Given the description of an element on the screen output the (x, y) to click on. 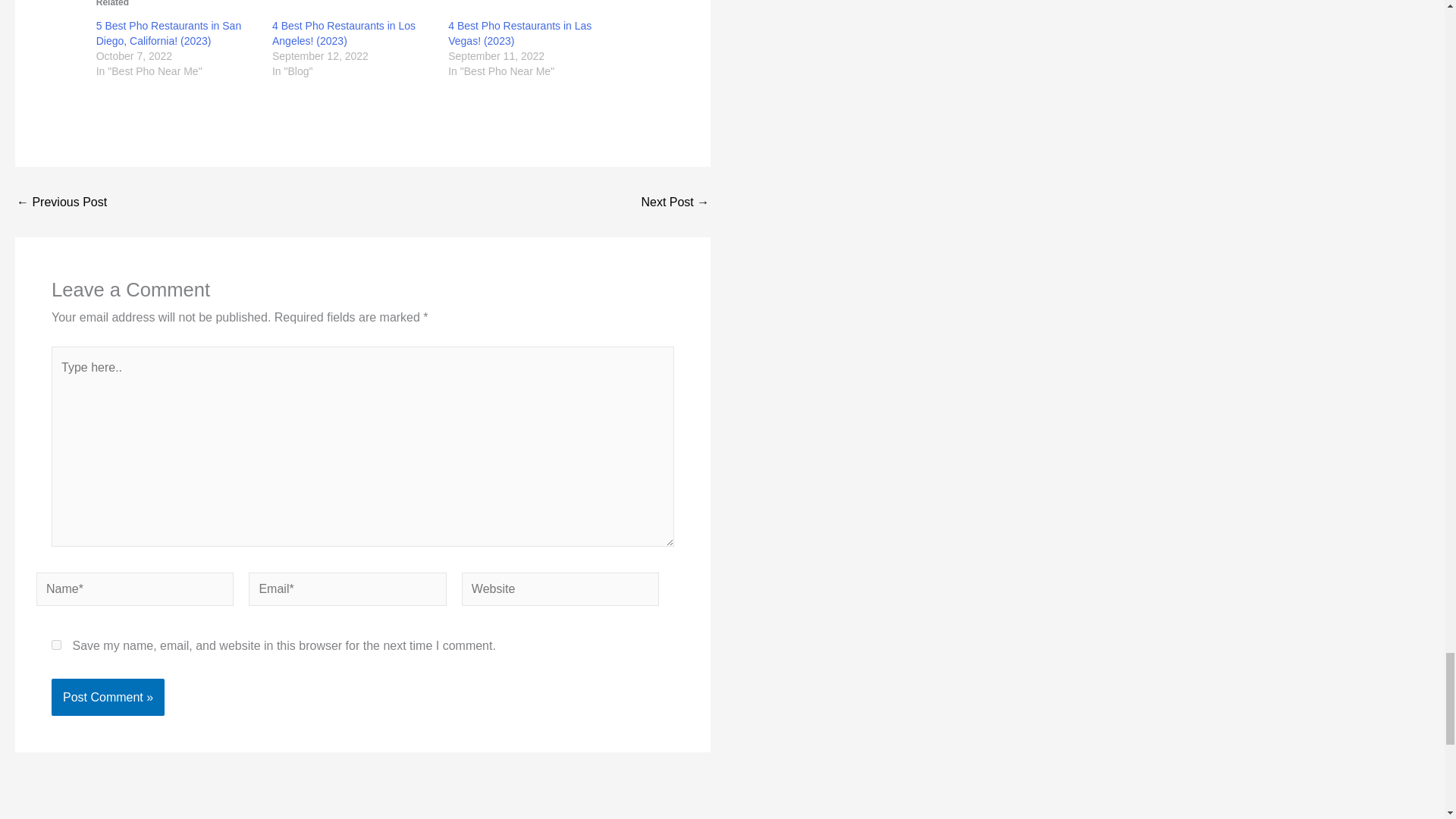
yes (55, 644)
